Given the description of an element on the screen output the (x, y) to click on. 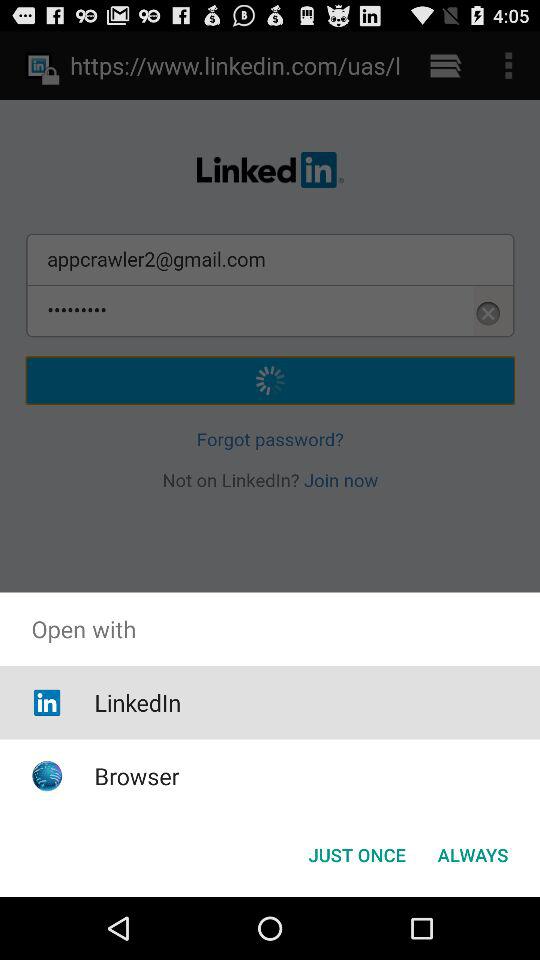
select the app below open with icon (472, 854)
